Given the description of an element on the screen output the (x, y) to click on. 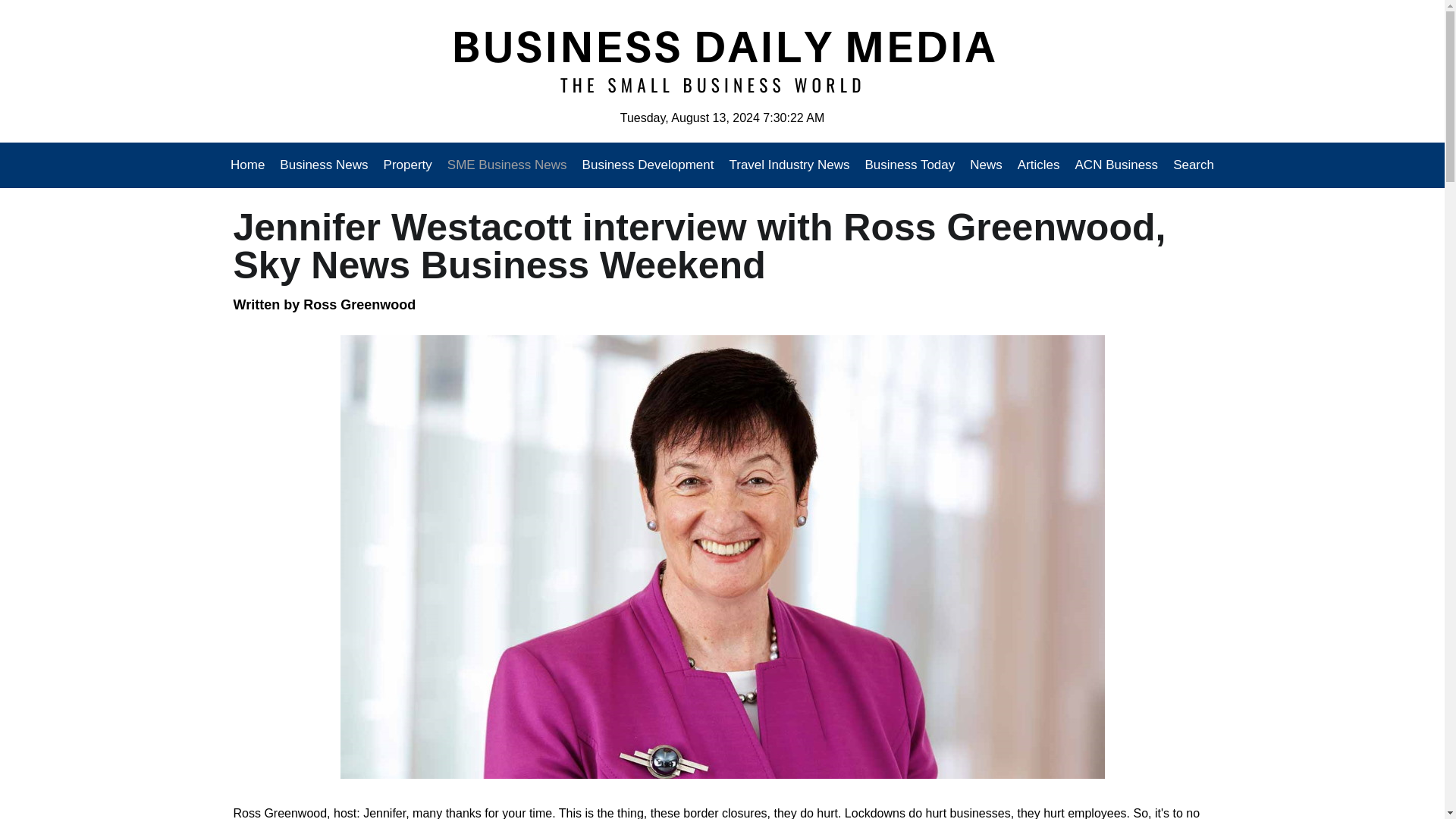
ACN Business (1116, 165)
Business News (323, 165)
Search (1190, 165)
News (986, 165)
Articles (1038, 165)
Property (407, 165)
SME Business News (507, 165)
Business Development (648, 165)
Travel Industry News (788, 165)
Home (251, 165)
